Given the description of an element on the screen output the (x, y) to click on. 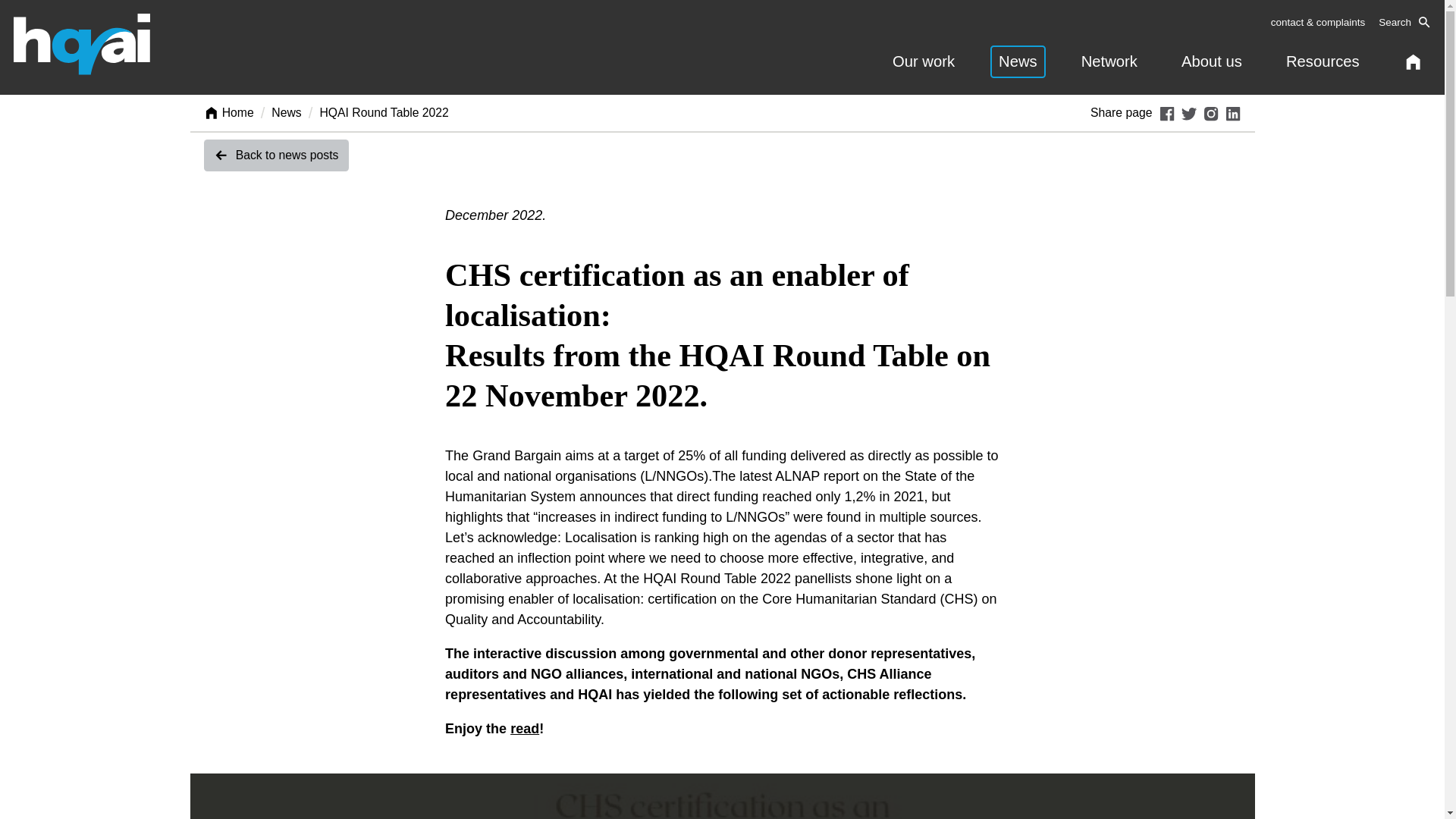
News (285, 113)
Search (1404, 22)
HQAI Round Table 2022 (383, 113)
Resources (1323, 60)
About us (1211, 60)
HQAI Round Table 2022 (383, 113)
Home (228, 113)
News (285, 113)
News (1017, 60)
Our work (922, 60)
Network (1109, 60)
